Given the description of an element on the screen output the (x, y) to click on. 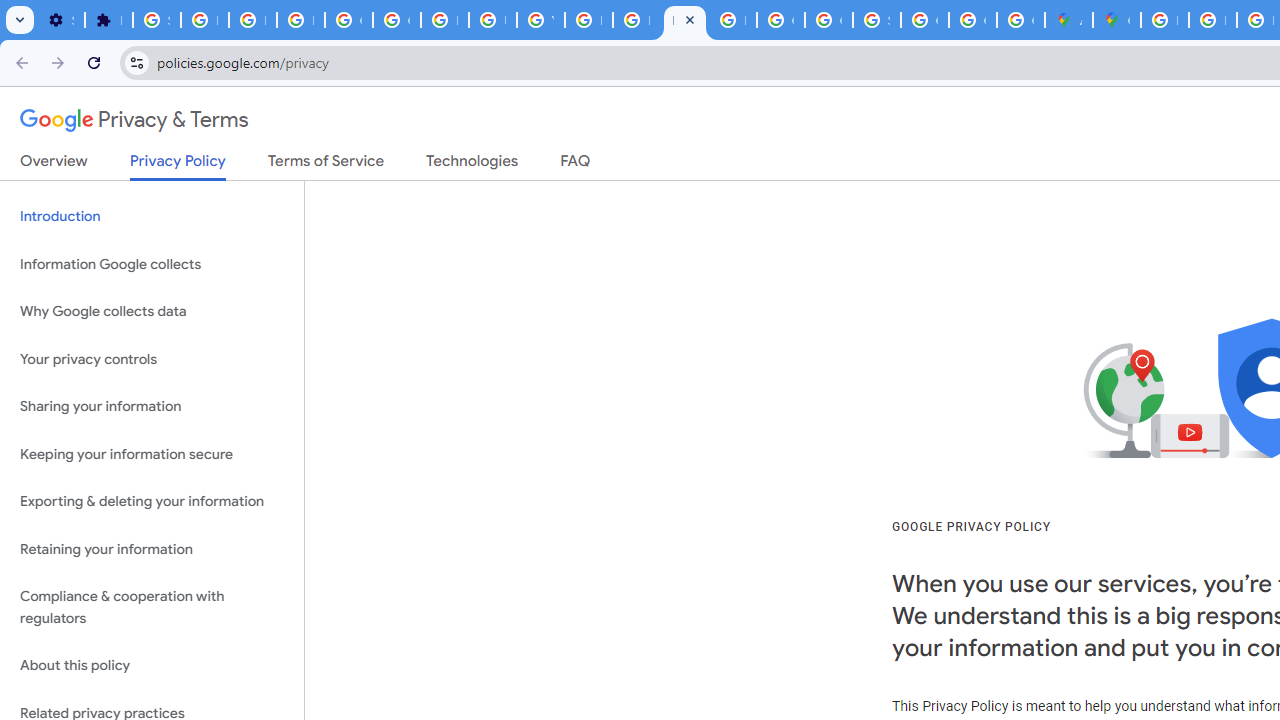
YouTube (540, 20)
Privacy Help Center - Policies Help (1212, 20)
Why Google collects data (152, 312)
Exporting & deleting your information (152, 502)
Keeping your information secure (152, 453)
Information Google collects (152, 263)
Create your Google Account (1020, 20)
